Given the description of an element on the screen output the (x, y) to click on. 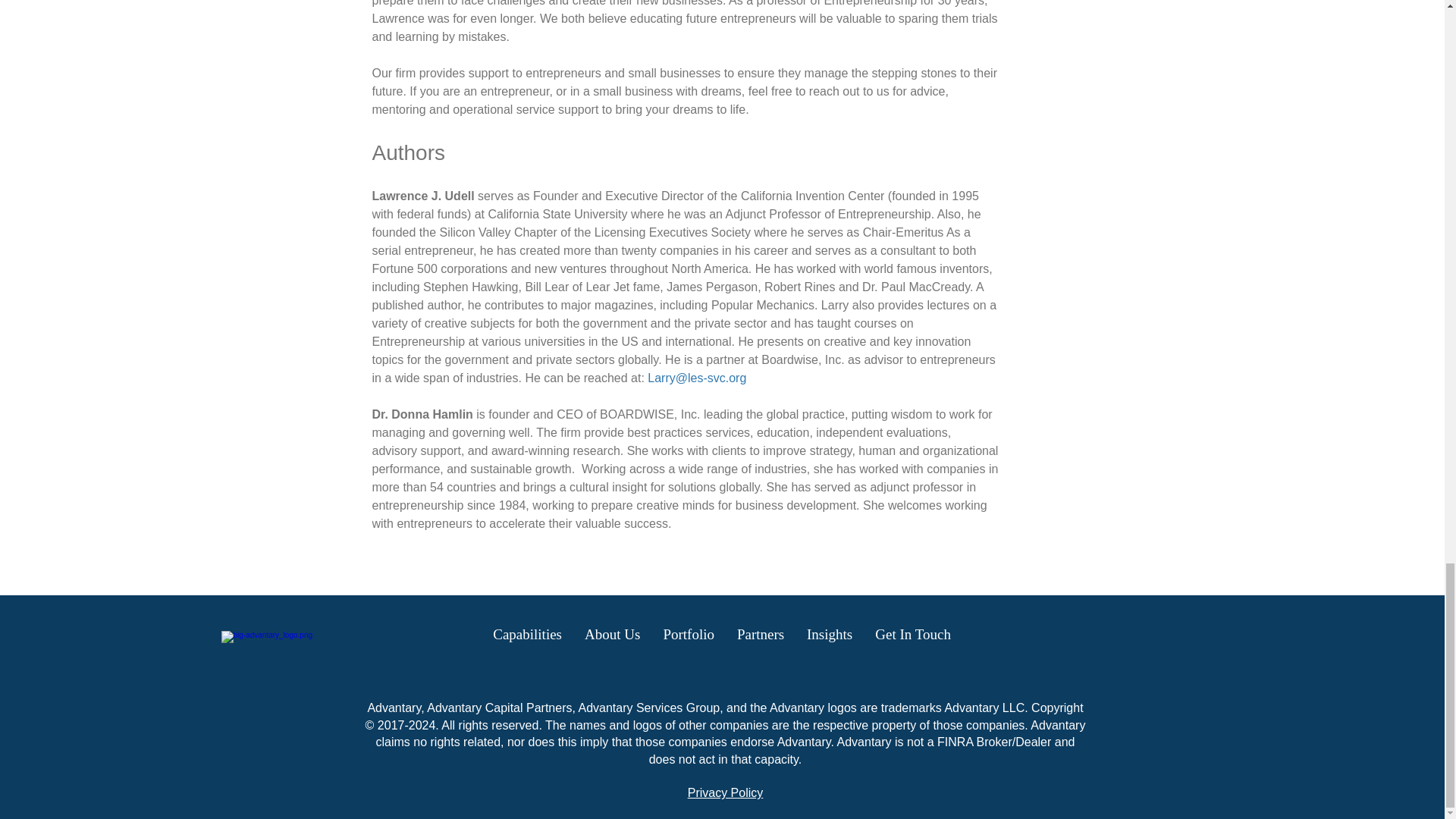
Partners (759, 633)
Capabilities (527, 633)
Portfolio (687, 633)
Insights (828, 633)
Get In Touch (912, 633)
About Us (611, 633)
